Given the description of an element on the screen output the (x, y) to click on. 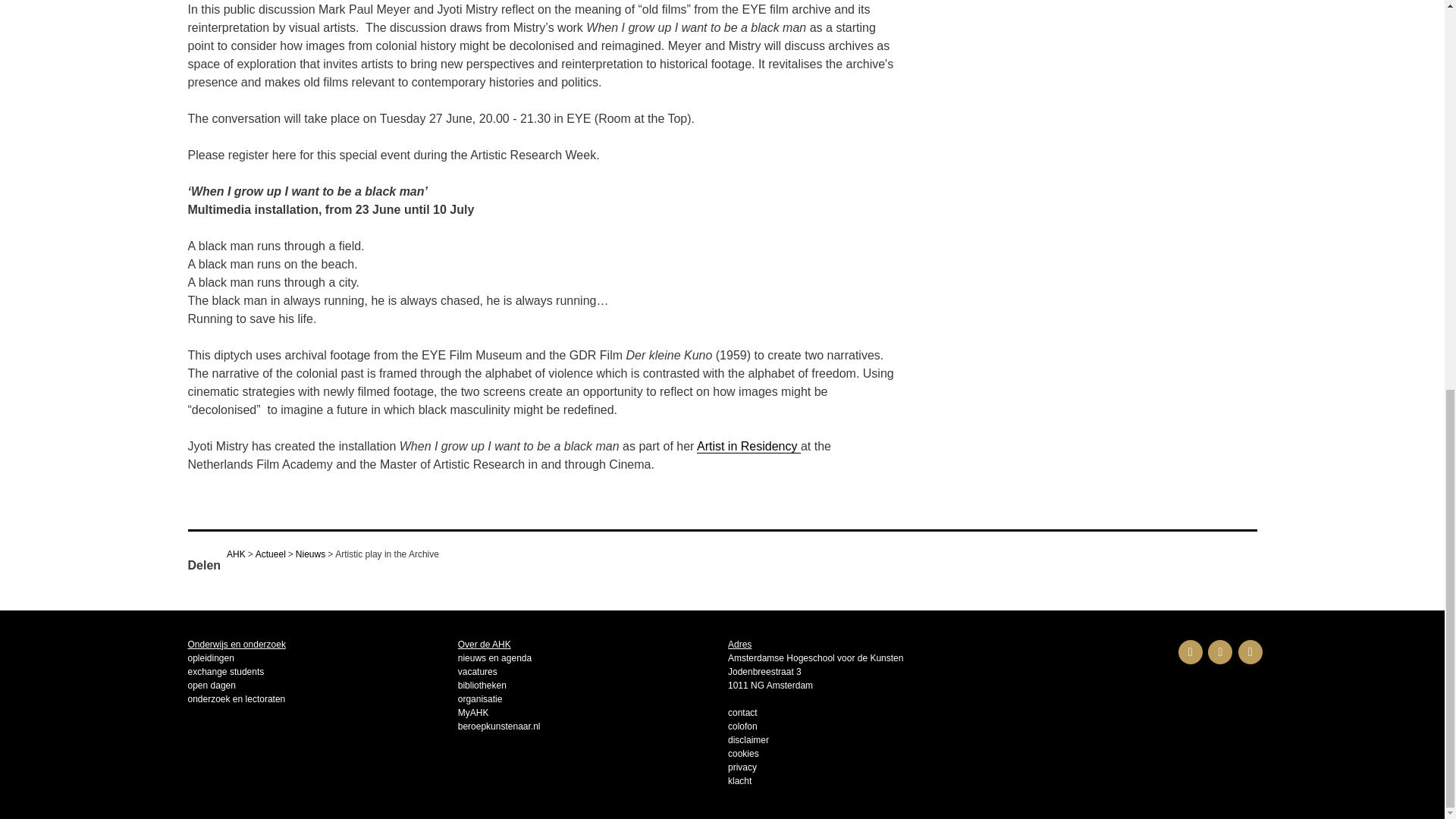
AHK (236, 553)
Actueel (270, 553)
Nieuws (309, 553)
